Given the description of an element on the screen output the (x, y) to click on. 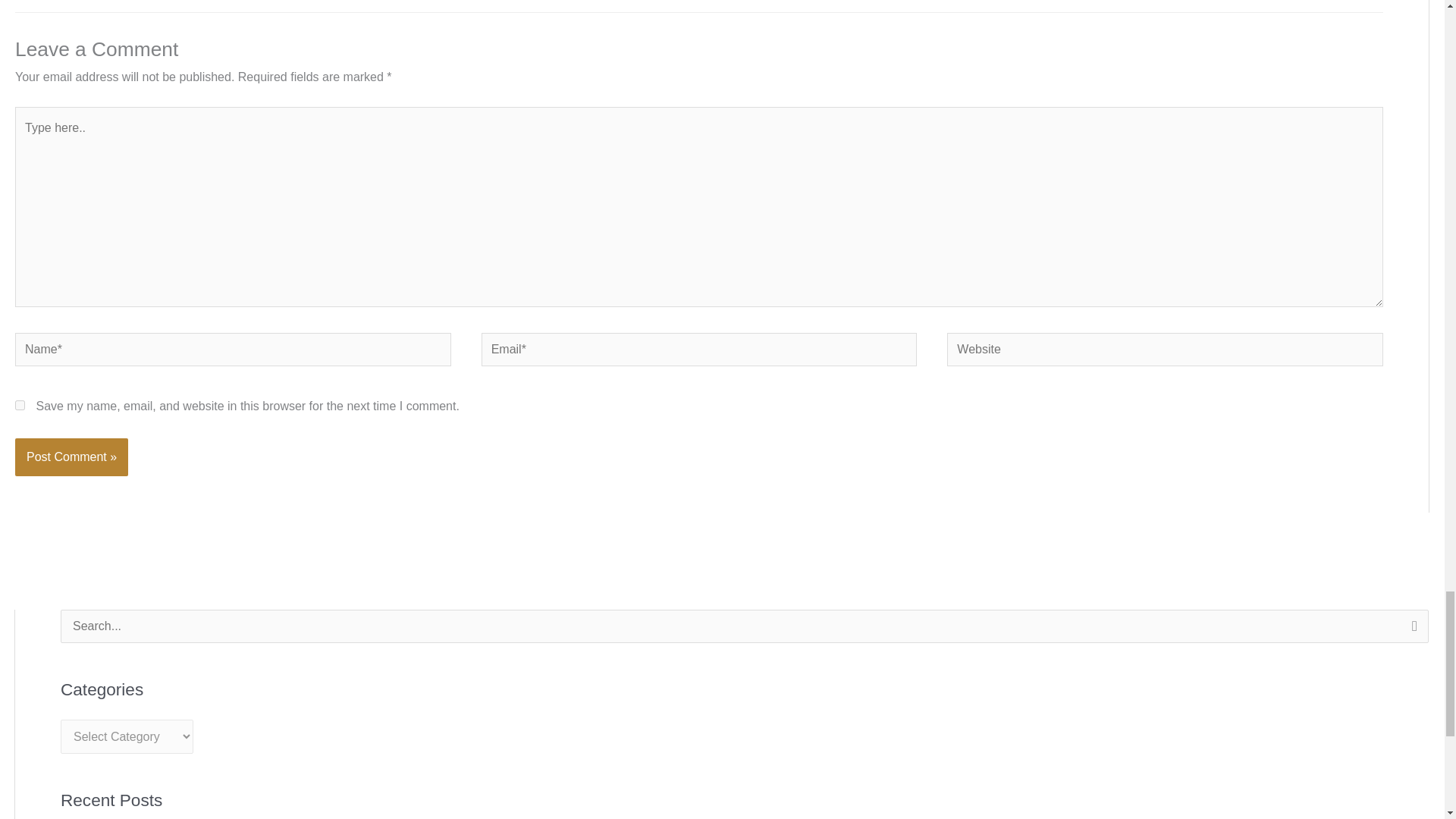
yes (19, 405)
